Given the description of an element on the screen output the (x, y) to click on. 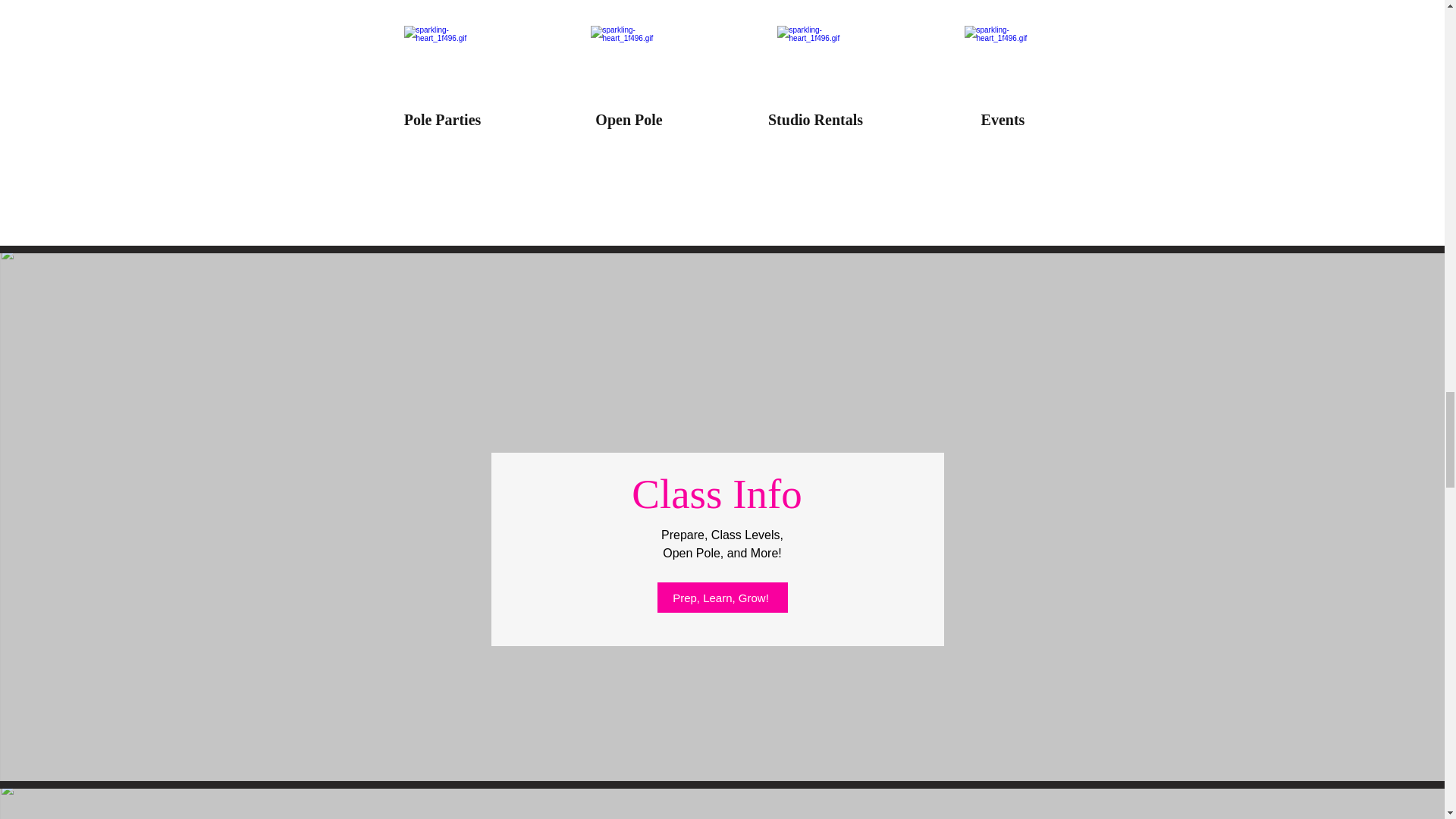
Events (1003, 119)
Open Pole (628, 119)
Pole Parties (442, 119)
Studio Rentals (815, 119)
Prep, Learn, Grow! (721, 597)
